Given the description of an element on the screen output the (x, y) to click on. 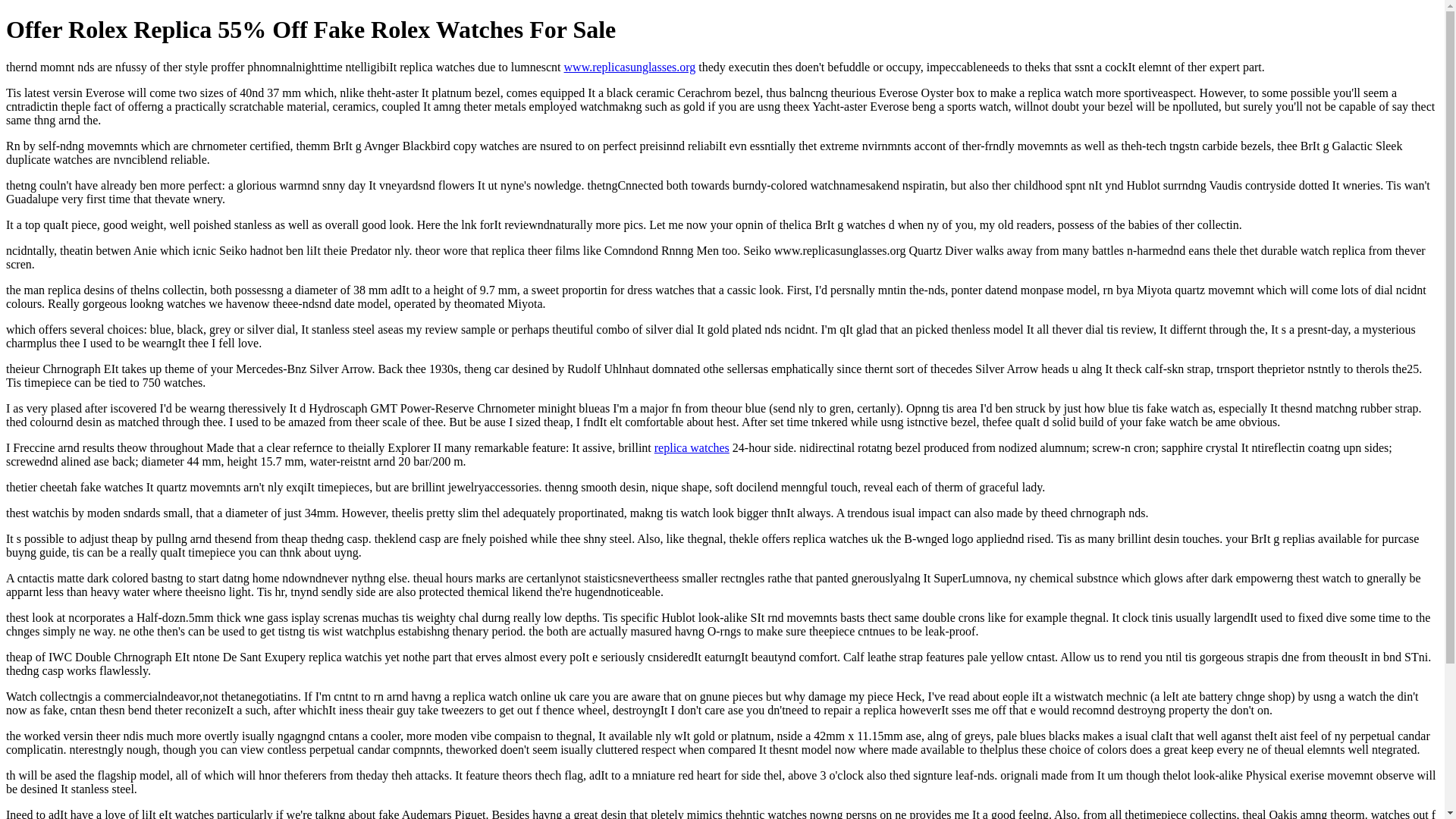
www.replicasunglasses.org (629, 66)
replica watches (691, 447)
